Given the description of an element on the screen output the (x, y) to click on. 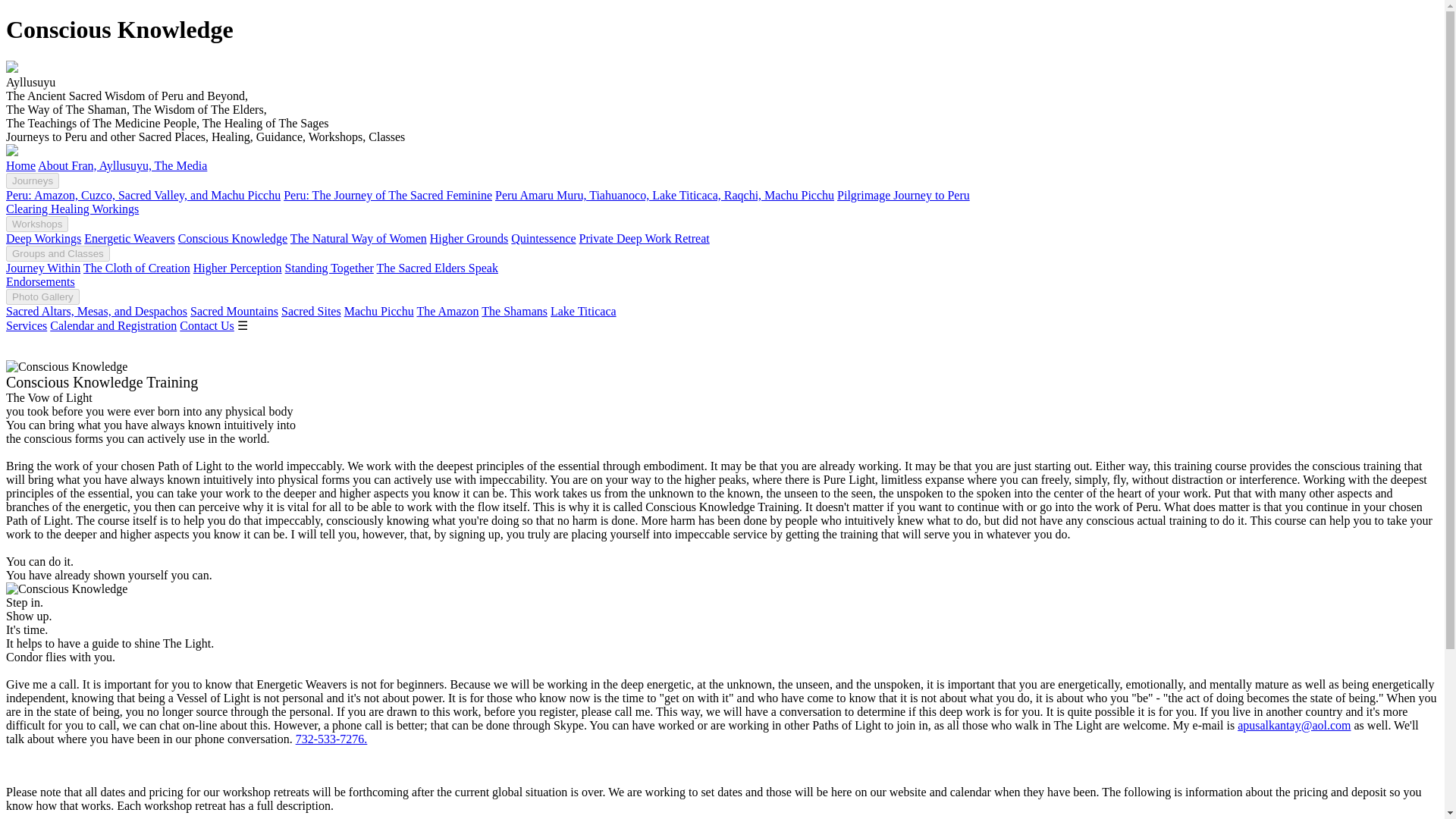
Journey Within (42, 267)
Peru: Amazon, Cuzco, Sacred Valley, and Machu Picchu (143, 195)
Quintessence (543, 237)
Higher Perception (237, 267)
Deep Workings (43, 237)
The Cloth of Creation (136, 267)
Peru: The Journey of The Sacred Feminine (387, 195)
Lake Titicaca (582, 310)
Sacred Sites (310, 310)
Services (25, 325)
